Given the description of an element on the screen output the (x, y) to click on. 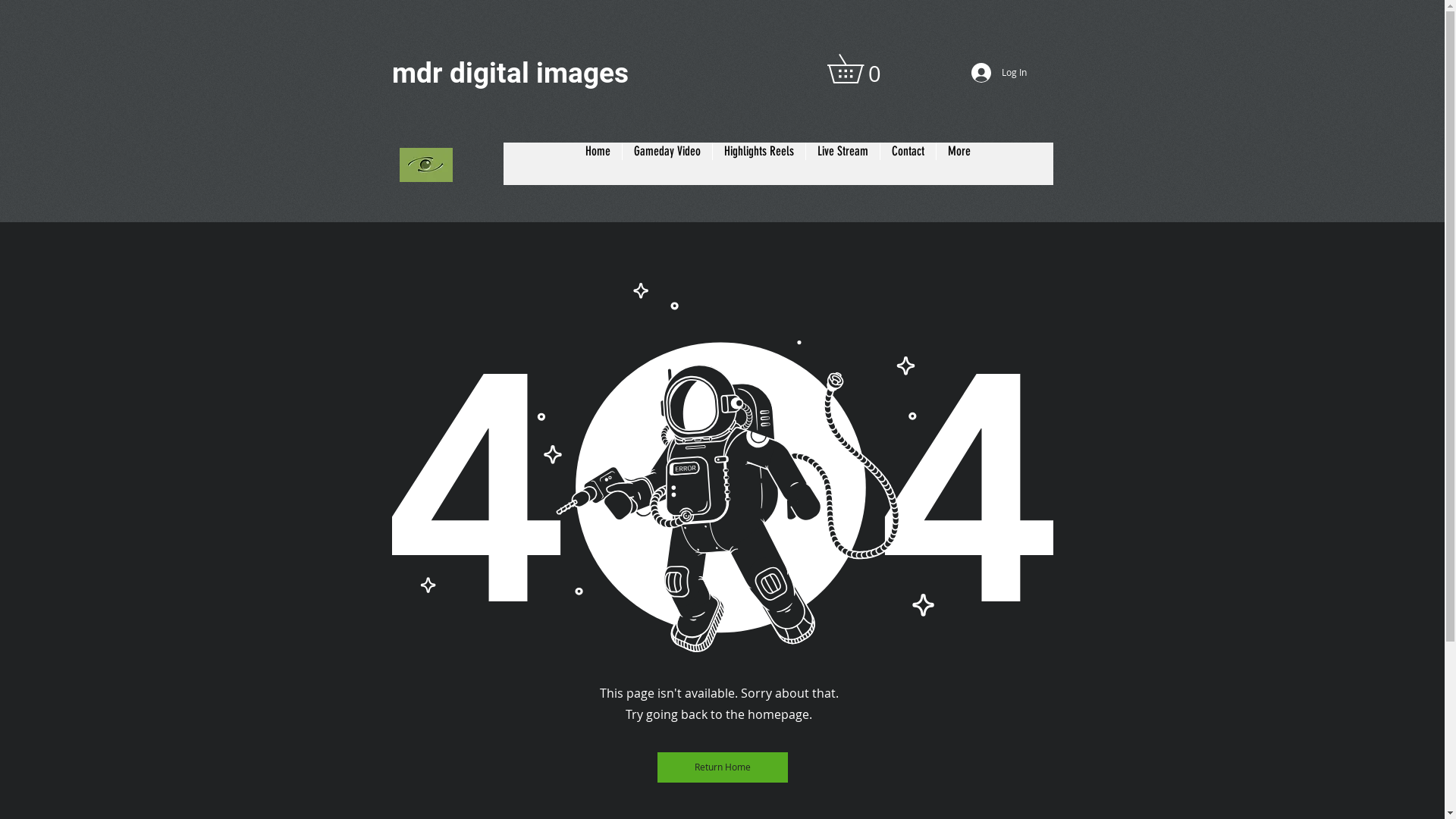
Highlights Reels Element type: text (758, 163)
Live Stream Element type: text (842, 163)
mdr digital images Element type: text (509, 72)
Log In Element type: text (994, 72)
Gameday Video Element type: text (666, 163)
Contact Element type: text (907, 163)
0 Element type: text (858, 68)
Home Element type: text (597, 163)
